Given the description of an element on the screen output the (x, y) to click on. 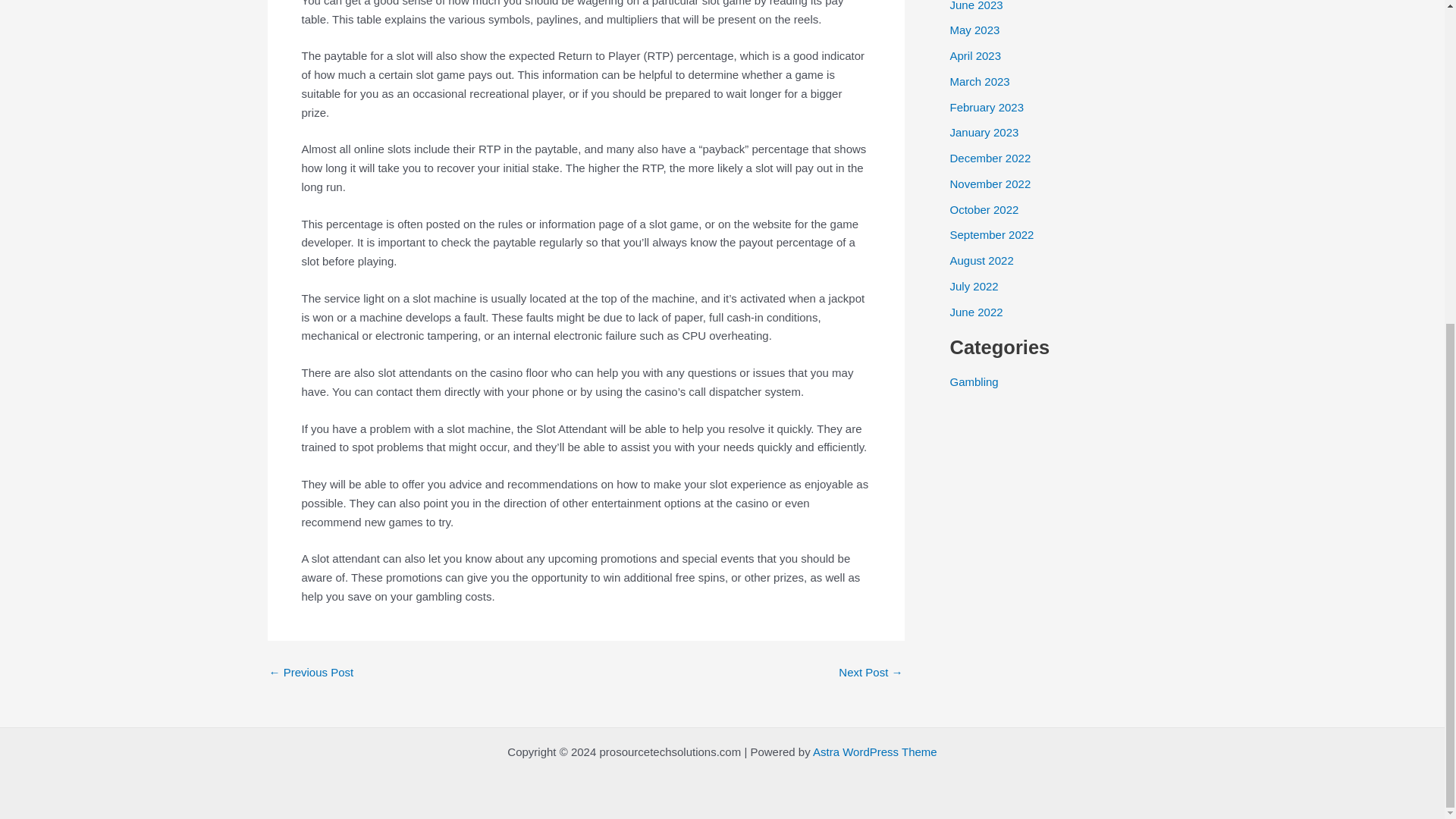
January 2023 (983, 132)
November 2022 (989, 183)
October 2022 (983, 209)
The Basics of Poker (310, 672)
Gambling (973, 381)
April 2023 (975, 55)
September 2022 (991, 234)
May 2023 (973, 29)
December 2022 (989, 157)
August 2022 (981, 259)
